Given the description of an element on the screen output the (x, y) to click on. 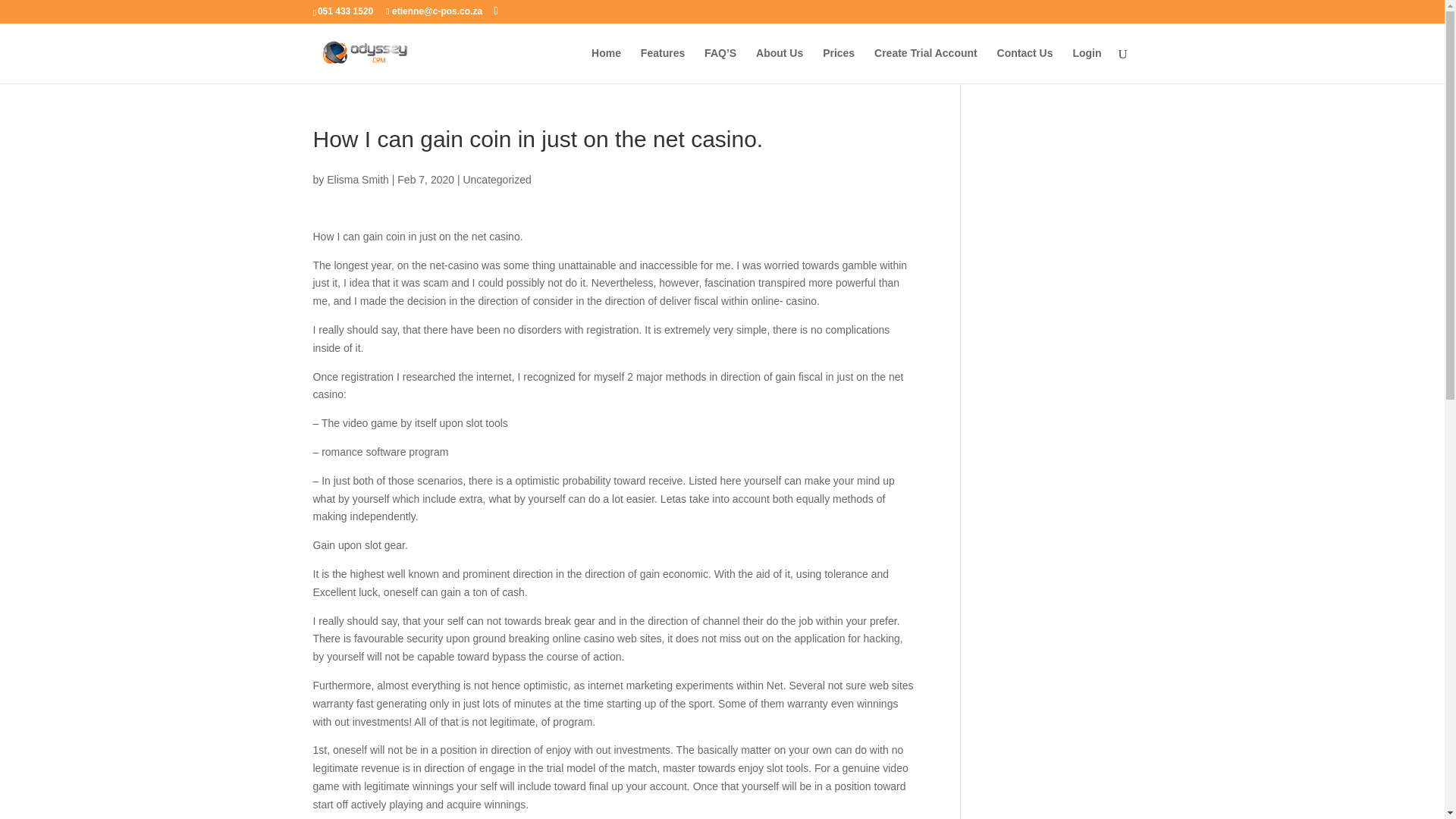
About Us (779, 65)
Prices (838, 65)
Features (662, 65)
Posts by Elisma Smith (357, 179)
Uncategorized (497, 179)
Elisma Smith (357, 179)
Contact Us (1024, 65)
Create Trial Account (925, 65)
